Given the description of an element on the screen output the (x, y) to click on. 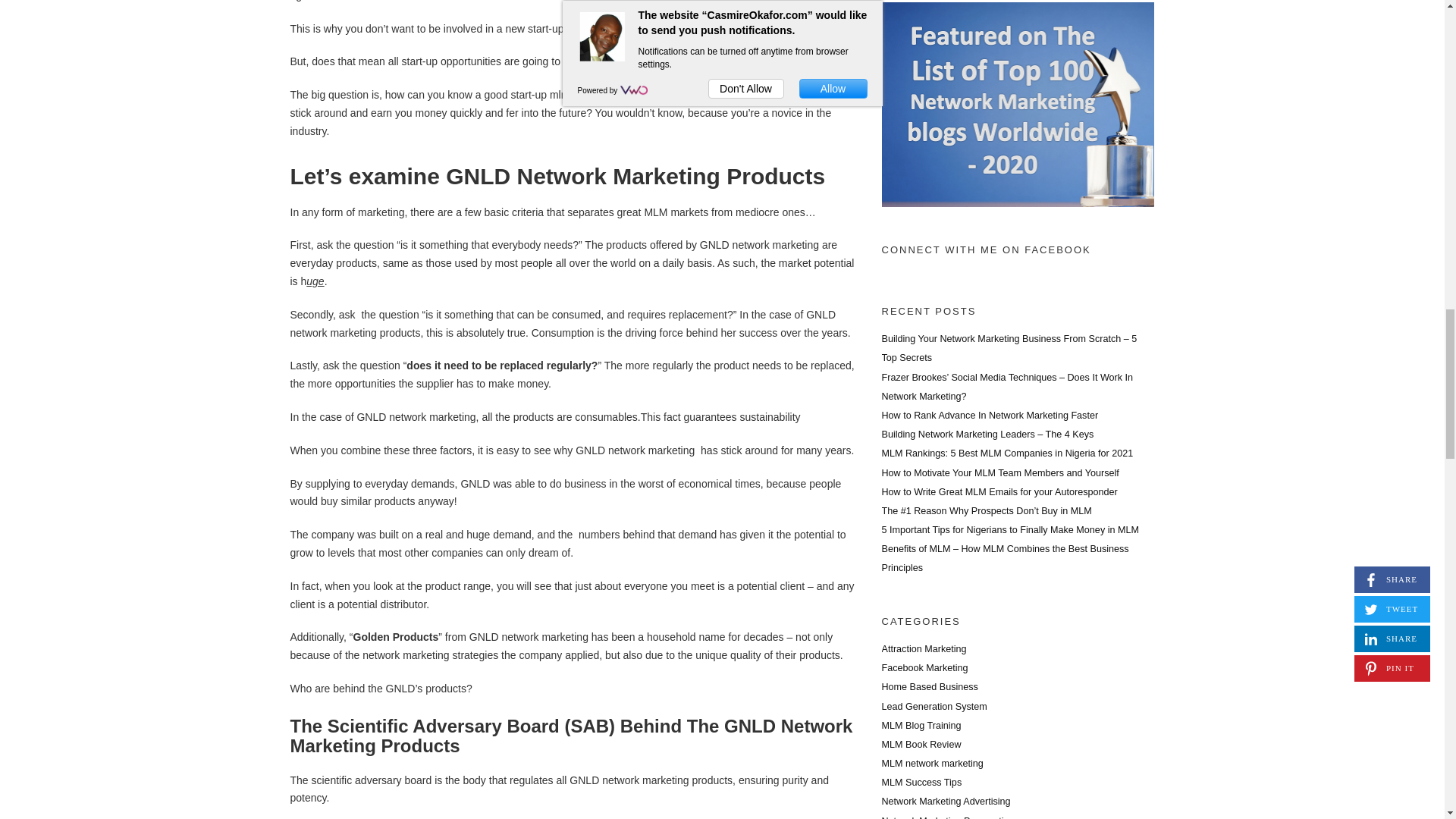
How to Motivate Your MLM Team Members and Yourself (999, 472)
MLM Rankings: 5 Best MLM Companies in Nigeria for 2021 (1006, 452)
How to Rank Advance In Network Marketing Faster (988, 415)
How to Write Great MLM Emails for your Autoresponder (998, 491)
